Given the description of an element on the screen output the (x, y) to click on. 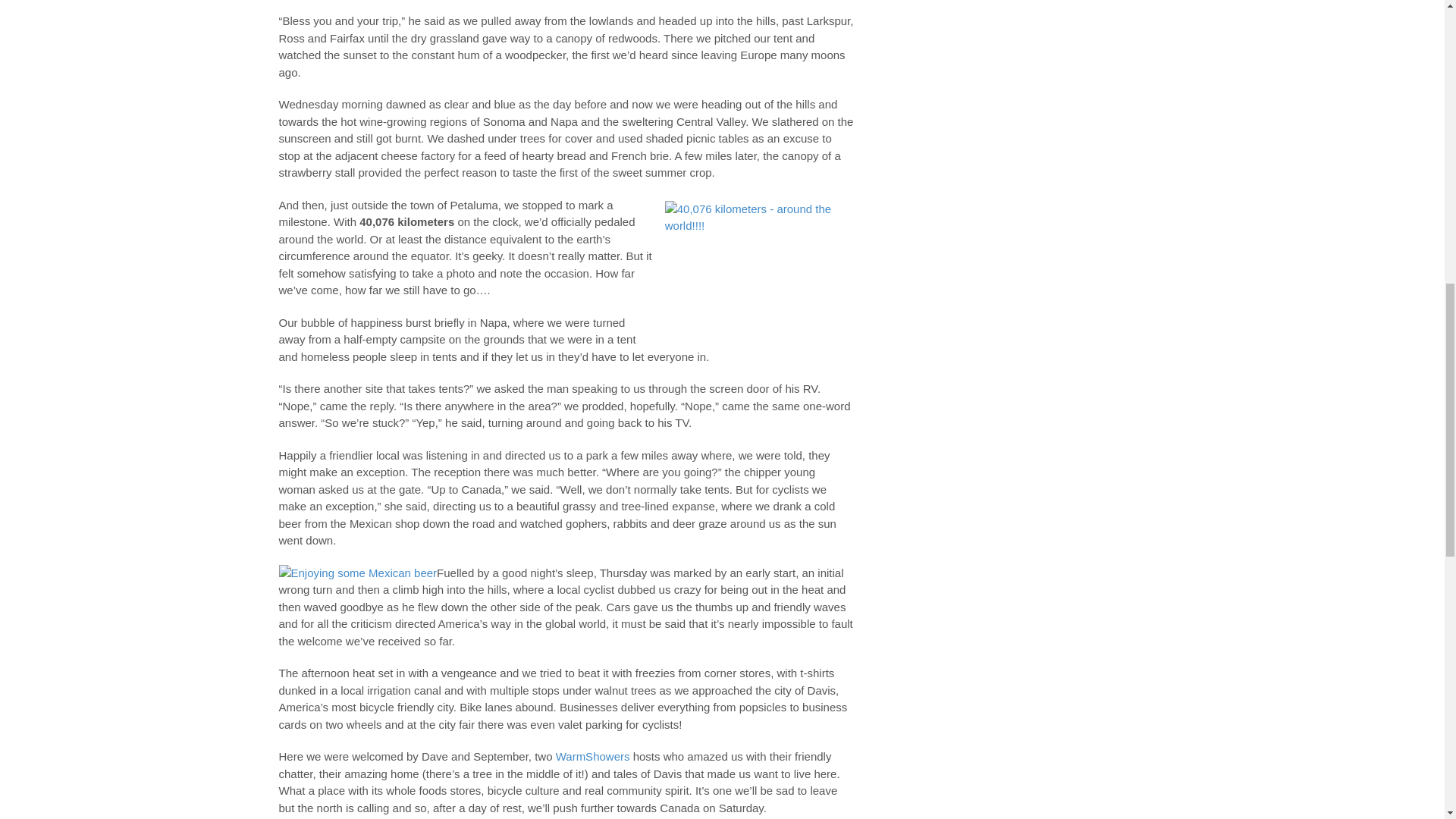
WarmShowers (593, 756)
Enjoying some Mexican beer (358, 573)
40,076 kilometers - around the world!!!! (759, 264)
